Given the description of an element on the screen output the (x, y) to click on. 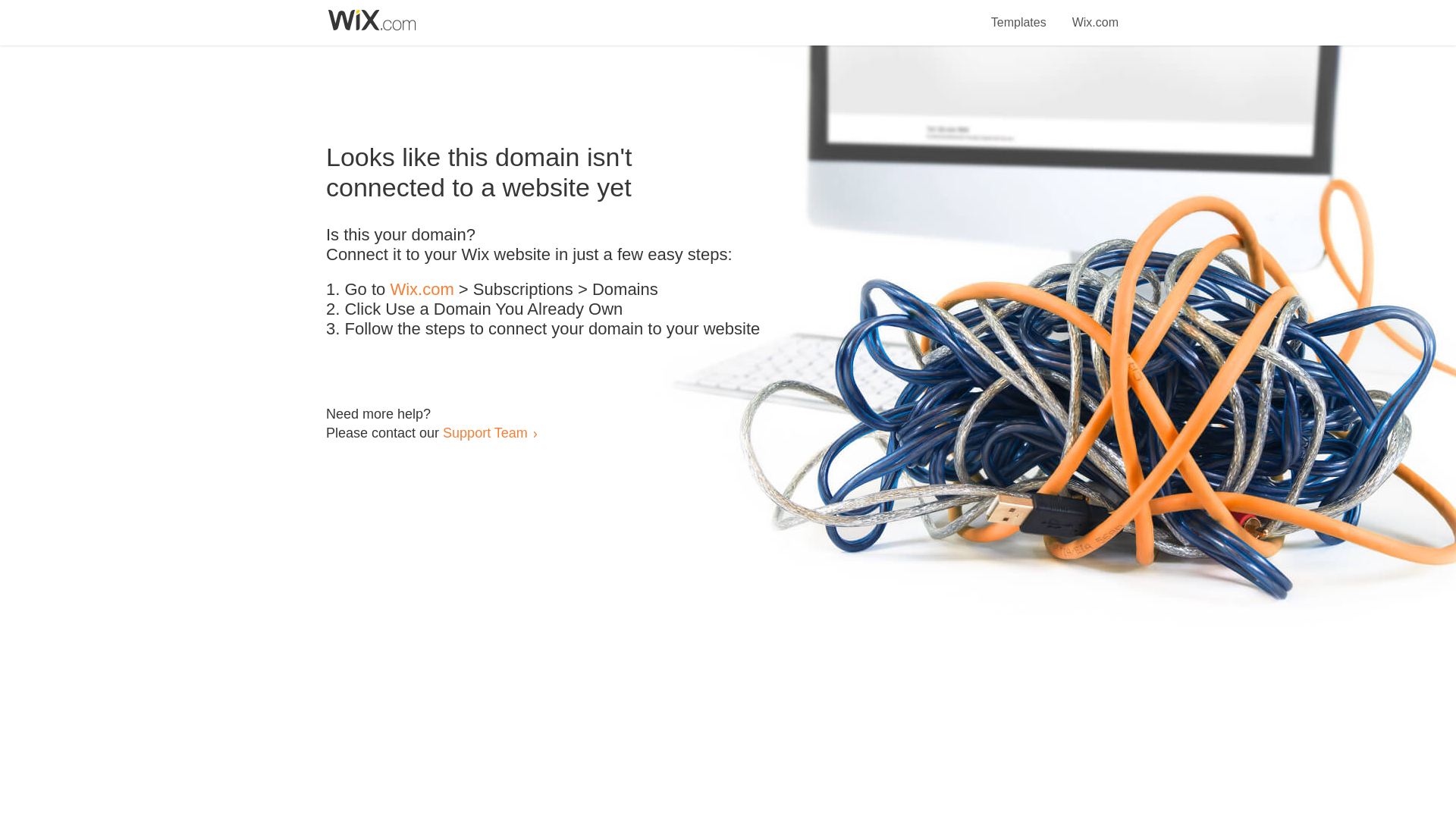
Templates (1018, 14)
Wix.com (421, 289)
Support Team (484, 432)
Wix.com (1095, 14)
